Given the description of an element on the screen output the (x, y) to click on. 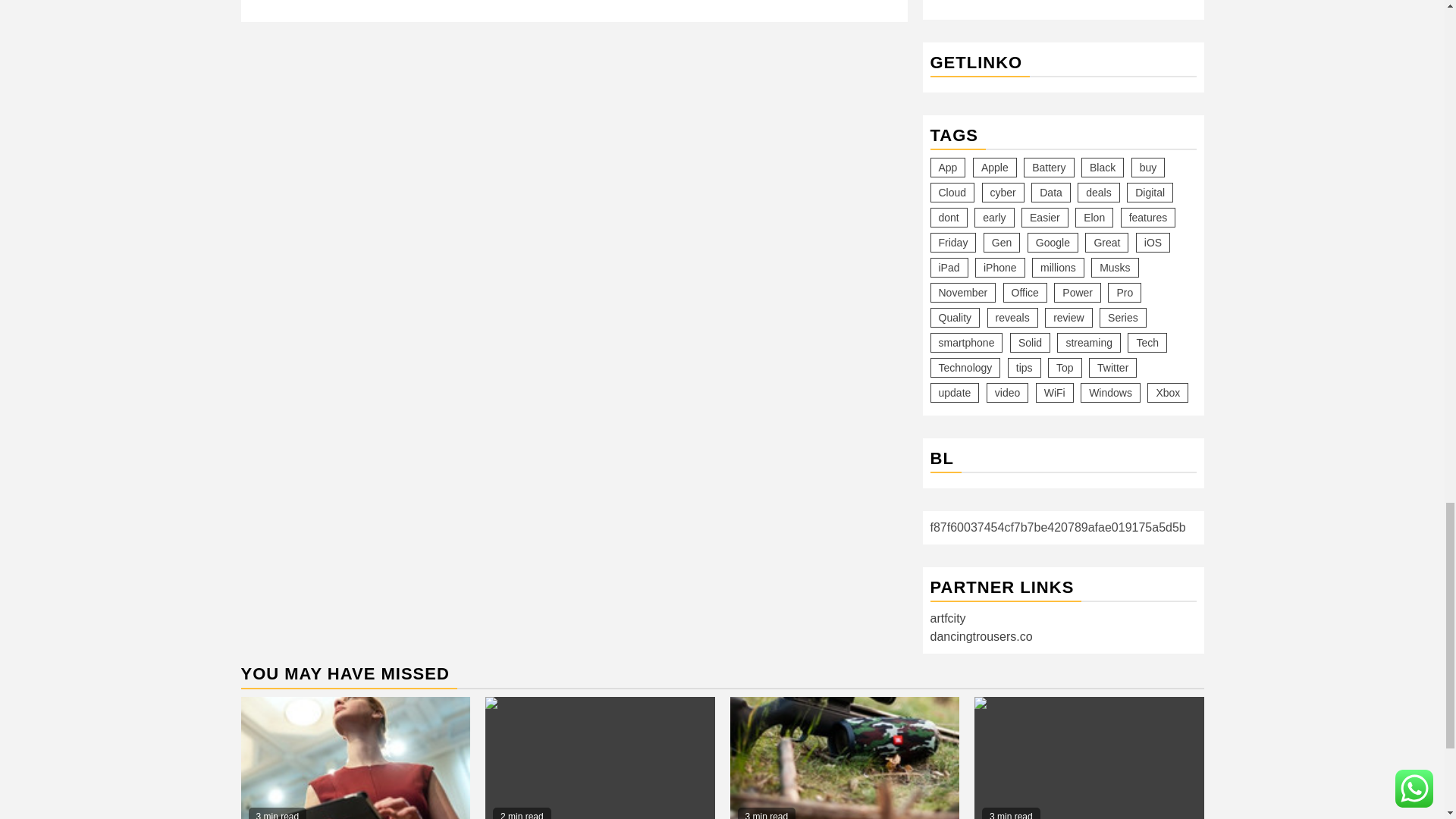
Computer Technology and Progress (355, 757)
Database Recovery Basics (844, 757)
